Given the description of an element on the screen output the (x, y) to click on. 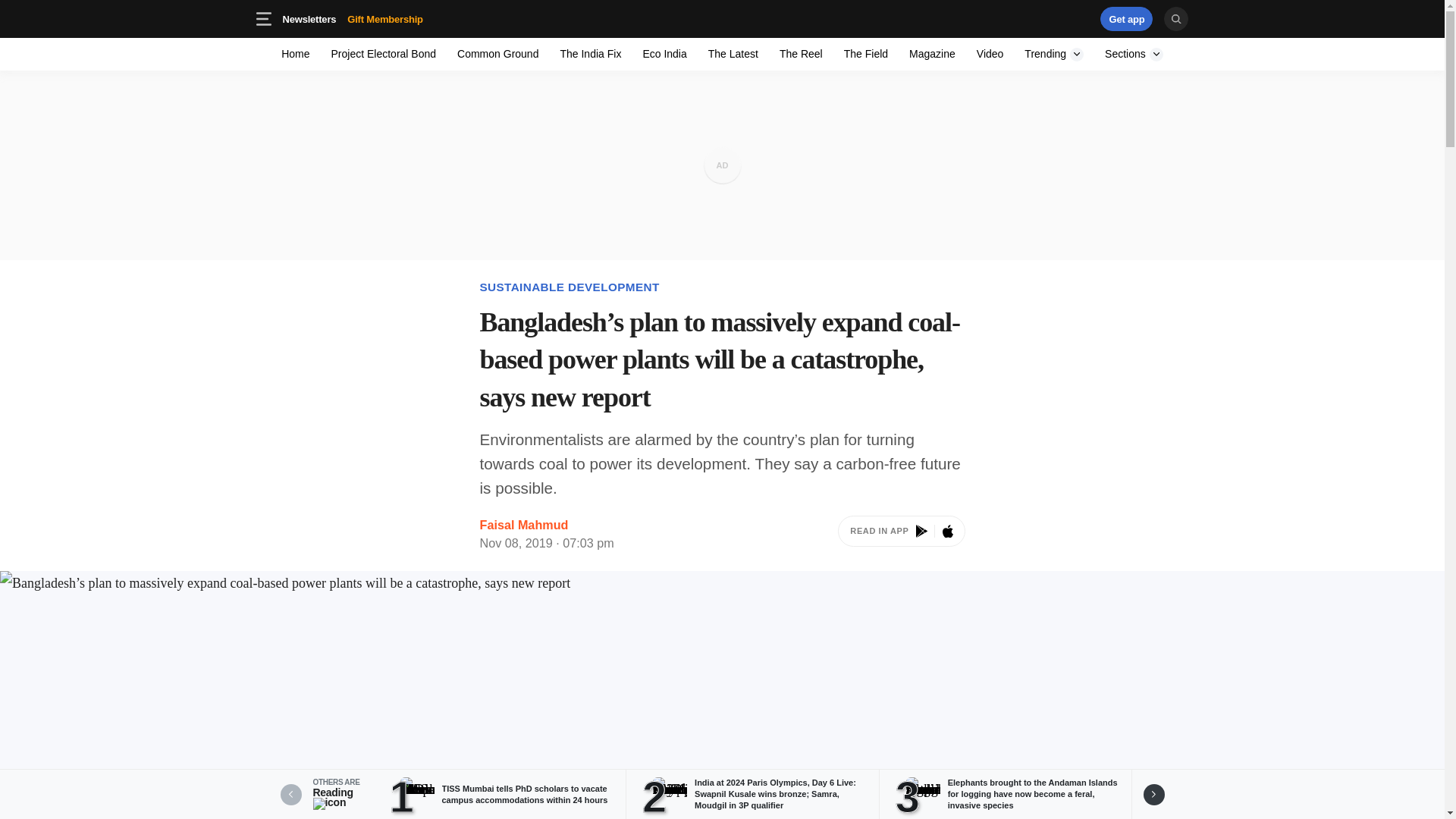
Common Ground (497, 53)
Newsletters (309, 18)
The Latest (732, 53)
Project Electoral Bond (383, 53)
Home (295, 53)
Sections (409, 18)
Trending (352, 18)
Gift Membership (1134, 53)
Trending (1053, 53)
Get app (385, 18)
The Reel (1053, 53)
The India Fix (1126, 18)
The Field (800, 53)
